Given the description of an element on the screen output the (x, y) to click on. 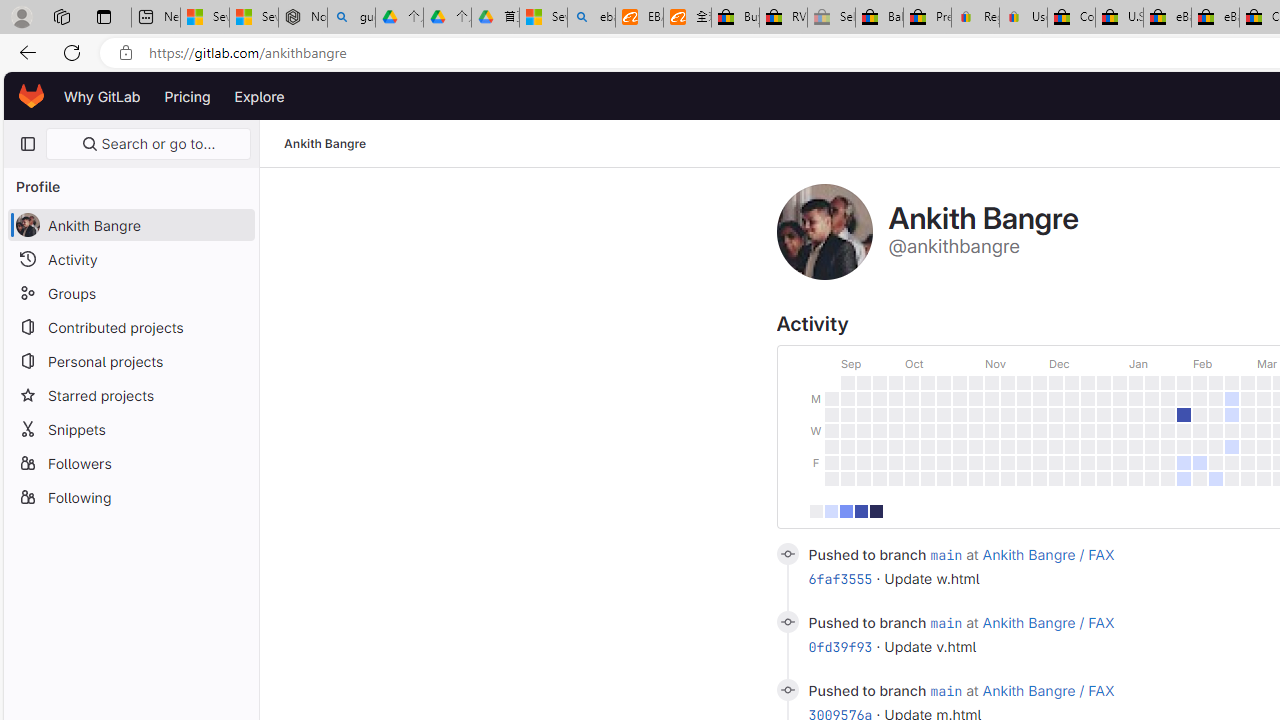
User Privacy Notice | eBay (1023, 17)
